Given the description of an element on the screen output the (x, y) to click on. 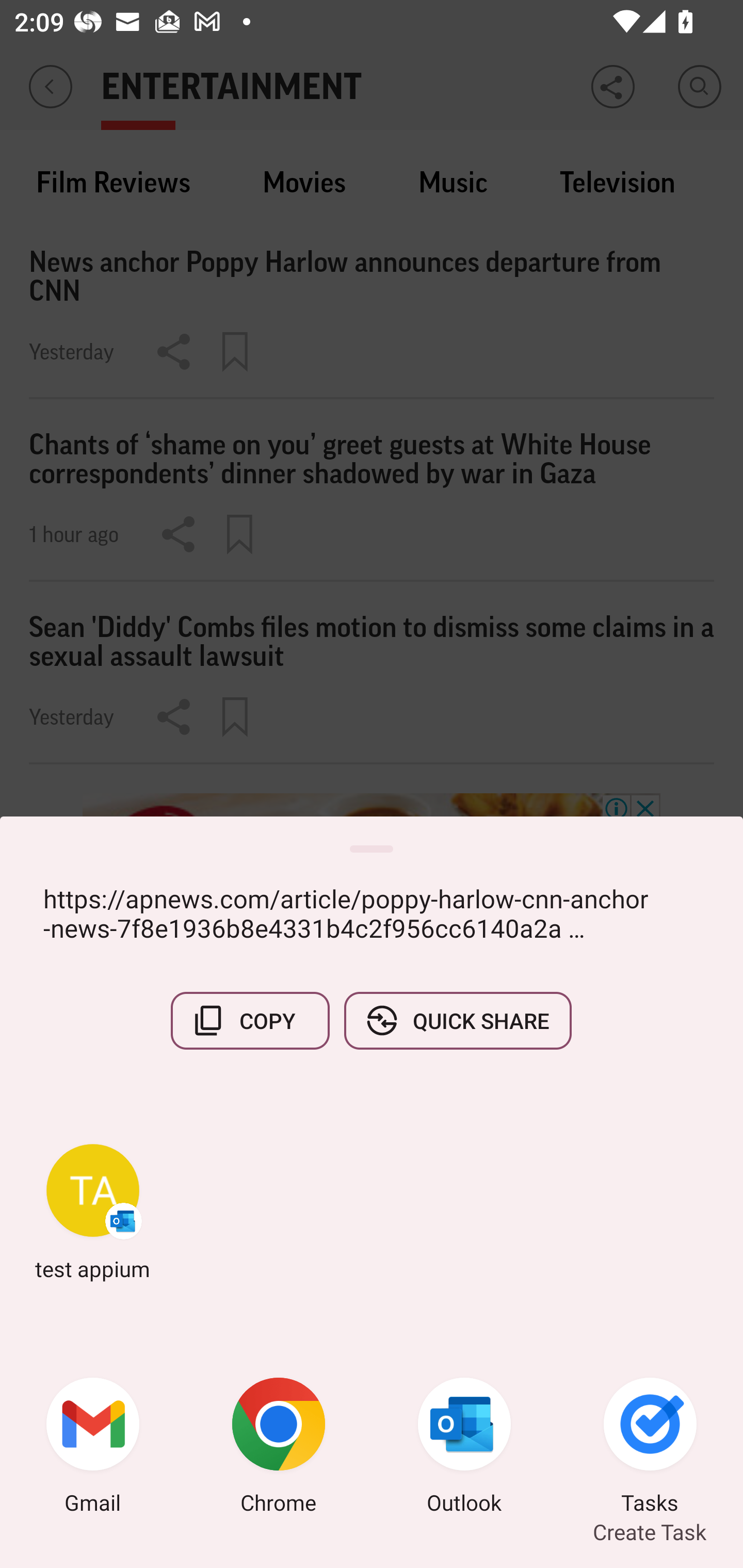
COPY (249, 1020)
QUICK SHARE (457, 1020)
test appium  Outlook test appium (92, 1212)
Gmail (92, 1448)
Chrome (278, 1448)
Outlook (464, 1448)
Tasks Create Task (650, 1448)
